Given the description of an element on the screen output the (x, y) to click on. 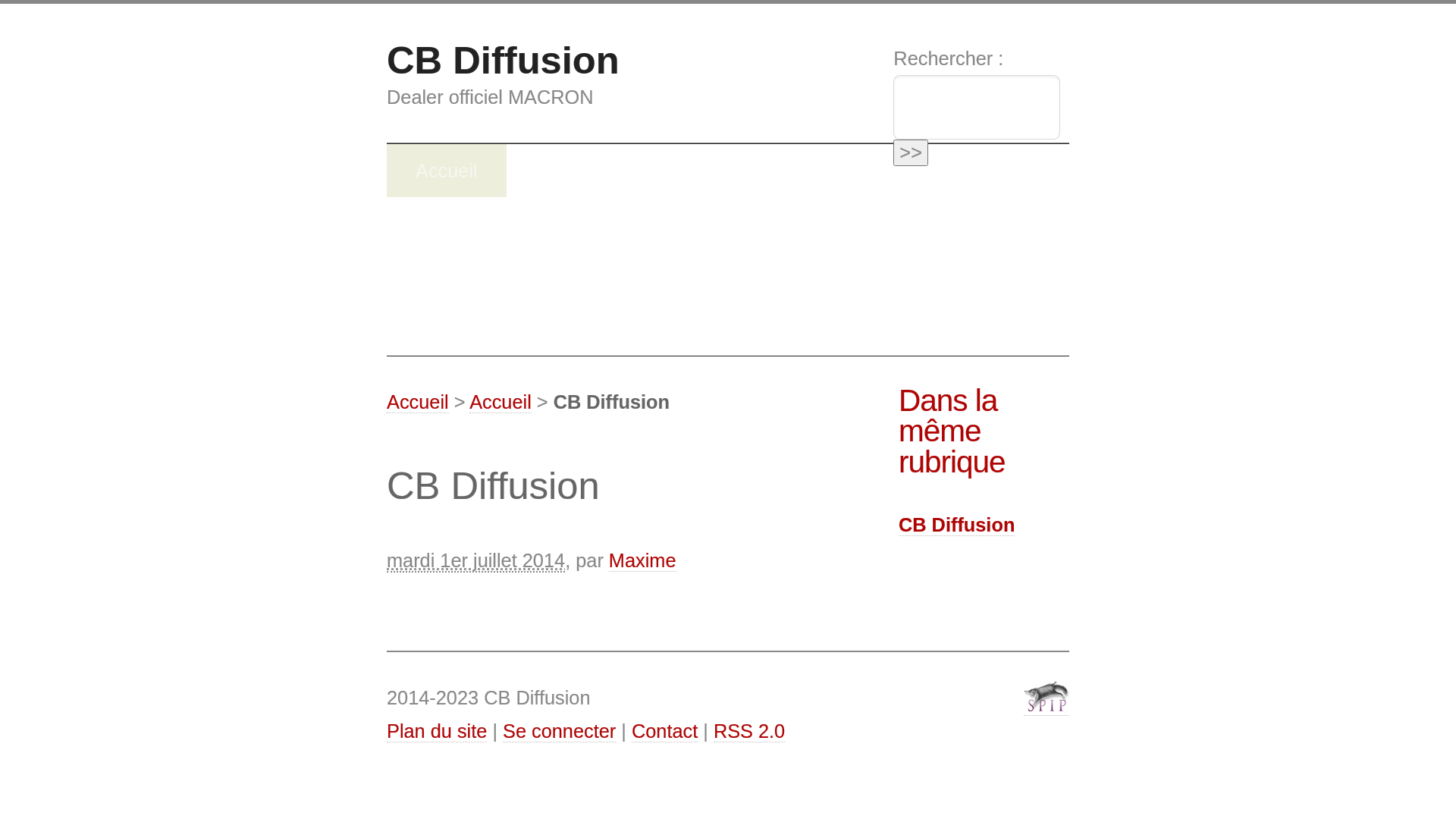
>> Element type: text (910, 152)
Se connecter Element type: text (558, 731)
Accueil Element type: text (500, 402)
Accueil Element type: text (446, 170)
Stages et concerts Element type: text (892, 223)
Plan du site Element type: text (436, 731)
Equipements sportifs Element type: text (624, 170)
CB Diffusion Element type: text (956, 525)
Reportages photos Element type: text (496, 275)
RSS 2.0 Element type: text (748, 731)
Contact Element type: text (664, 731)
Maxime Element type: text (642, 560)
Panneaux publicitaires Element type: text (731, 275)
CB Diffusion Element type: text (502, 59)
Rechercher Element type: hover (910, 152)
Accueil Element type: text (417, 402)
